Given the description of an element on the screen output the (x, y) to click on. 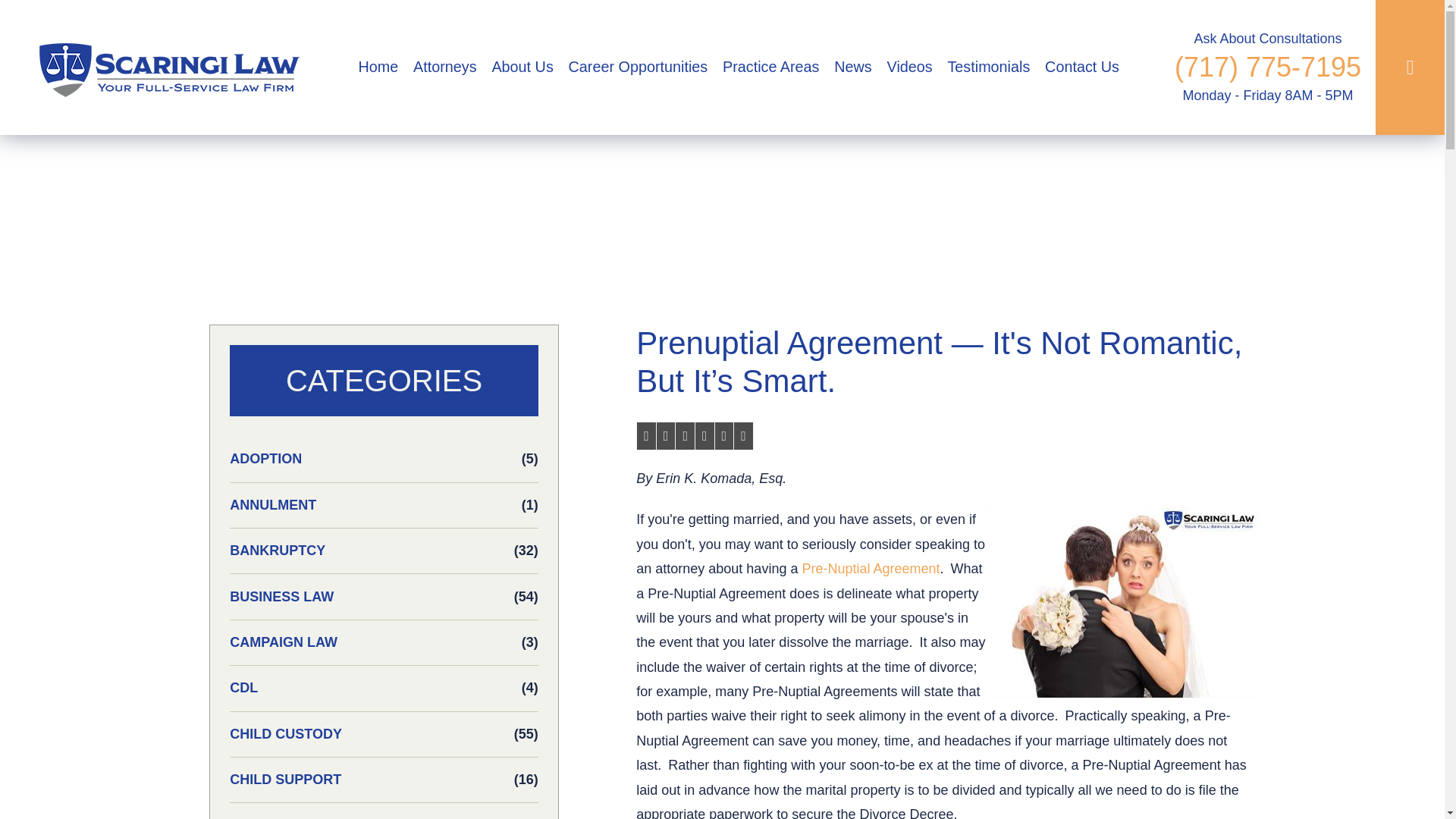
Career Opportunities (637, 67)
Scaringi Law (164, 67)
